Given the description of an element on the screen output the (x, y) to click on. 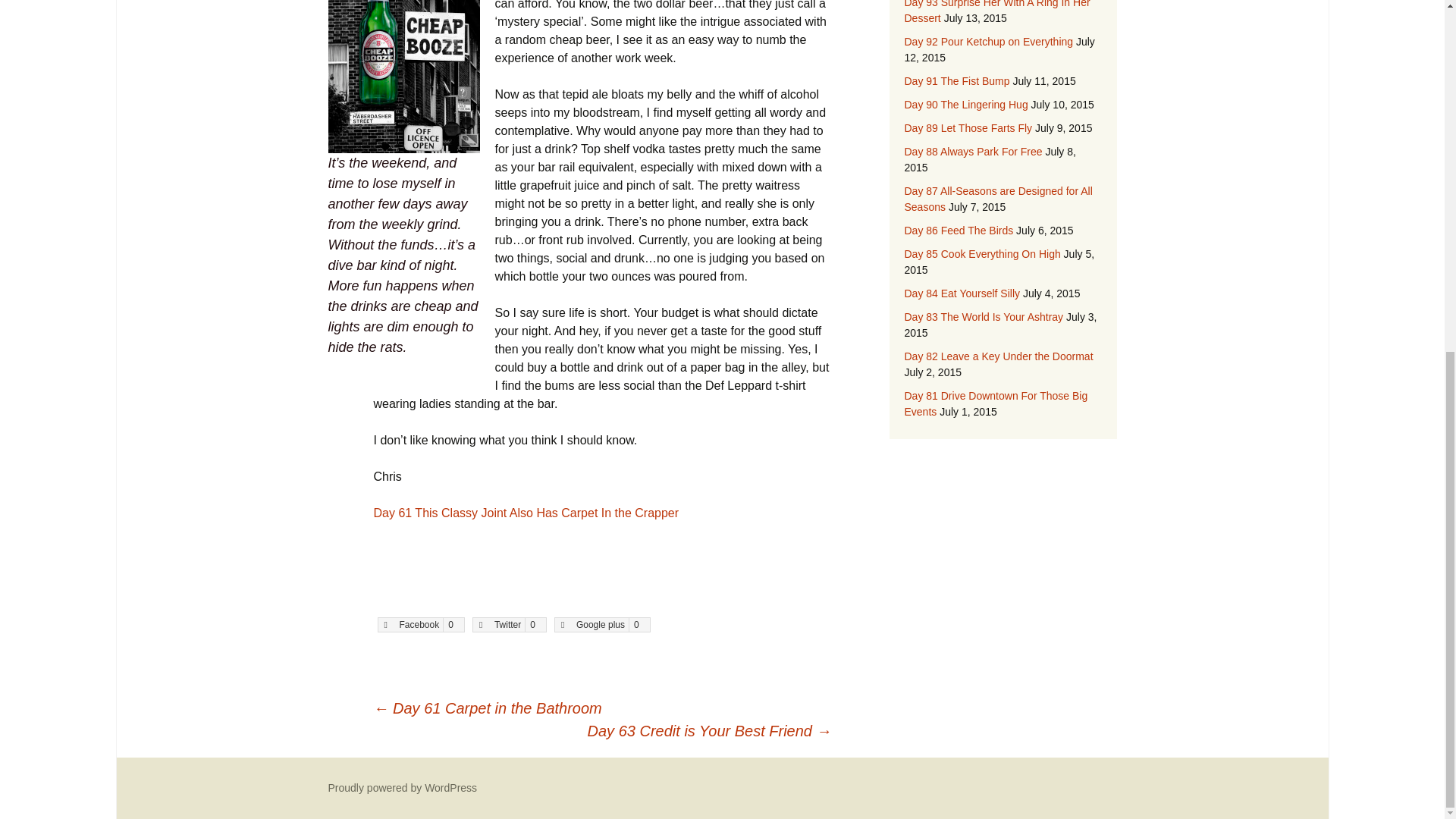
Facebook0 (420, 624)
Day 89 Let Those Farts Fly (968, 128)
Proudly powered by WordPress (402, 787)
Day 83 The World Is Your Ashtray (983, 316)
Day 84 Eat Yourself Silly (962, 293)
Google plus0 (602, 624)
Day 82 Leave a Key Under the Doormat (998, 356)
Day 93 Surprise Her With A Ring In Her Dessert (996, 12)
Day 92 Pour Ketchup on Everything (988, 41)
Day 88 Always Park For Free (973, 151)
